Given the description of an element on the screen output the (x, y) to click on. 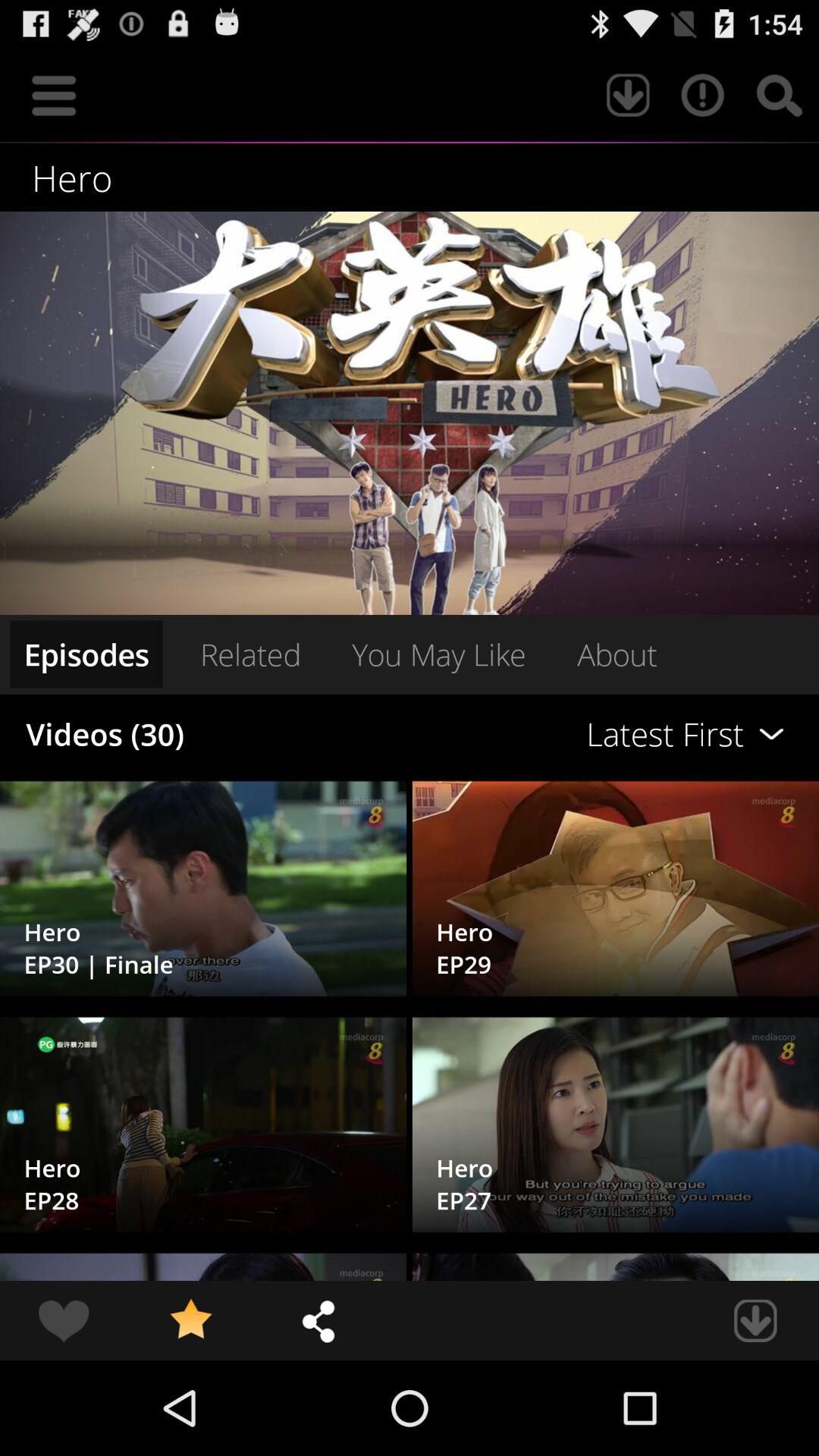
select item above the hero (702, 95)
